Given the description of an element on the screen output the (x, y) to click on. 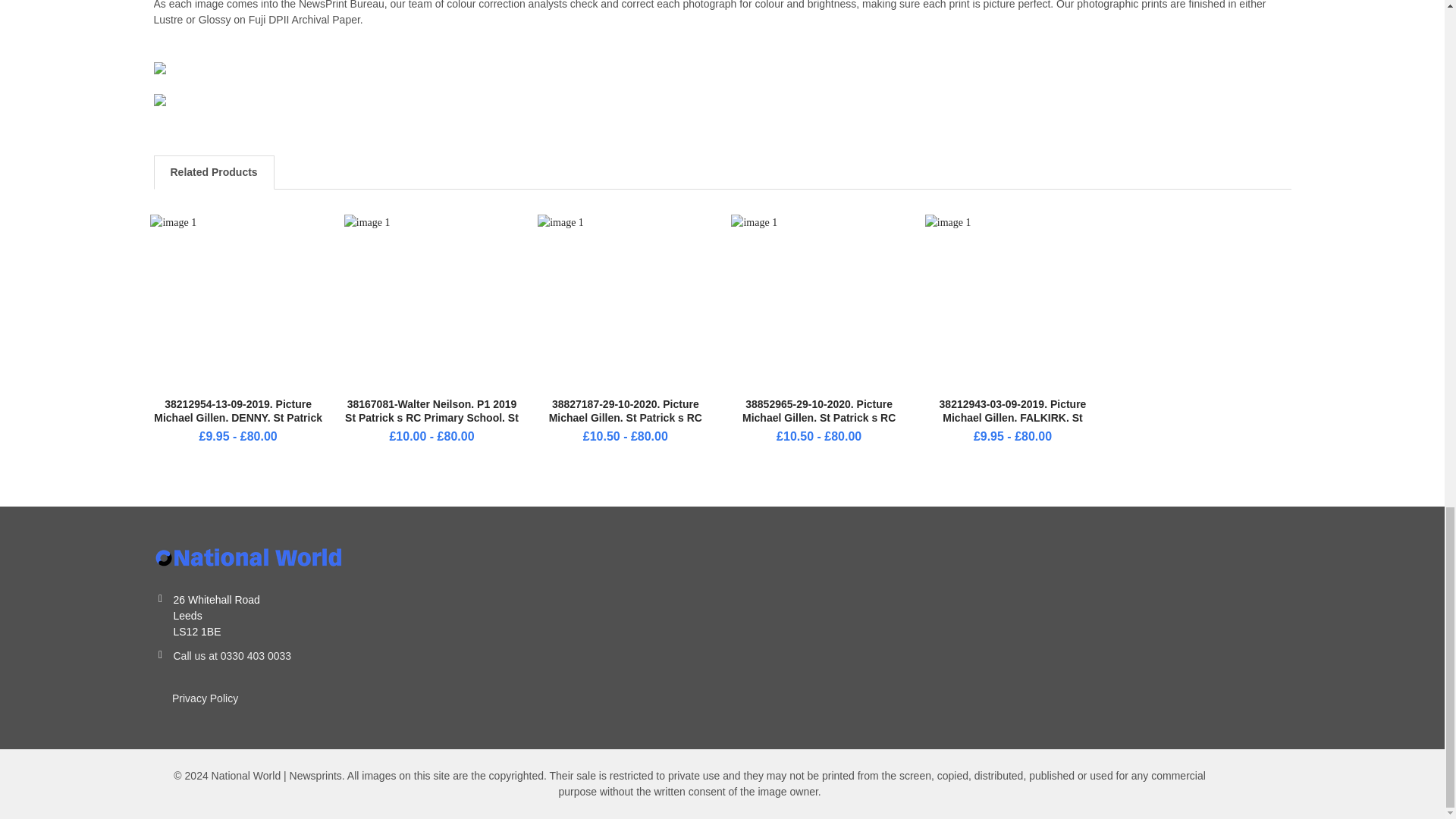
image 1 (817, 301)
image 1 (625, 301)
image 1 (1012, 301)
image 1 (236, 301)
image 1 (431, 301)
